Given the description of an element on the screen output the (x, y) to click on. 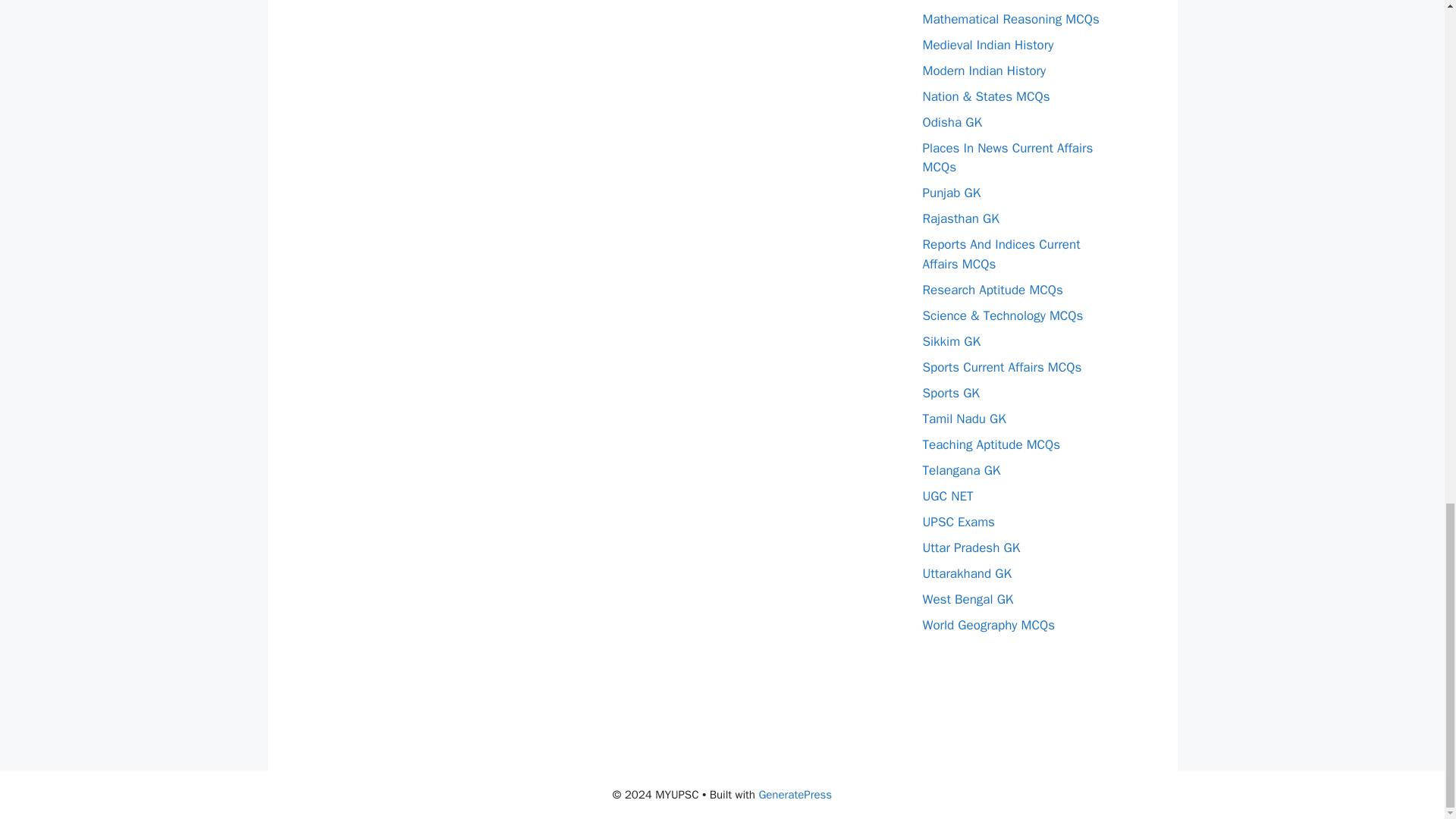
Scroll back to top (1406, 211)
